Given the description of an element on the screen output the (x, y) to click on. 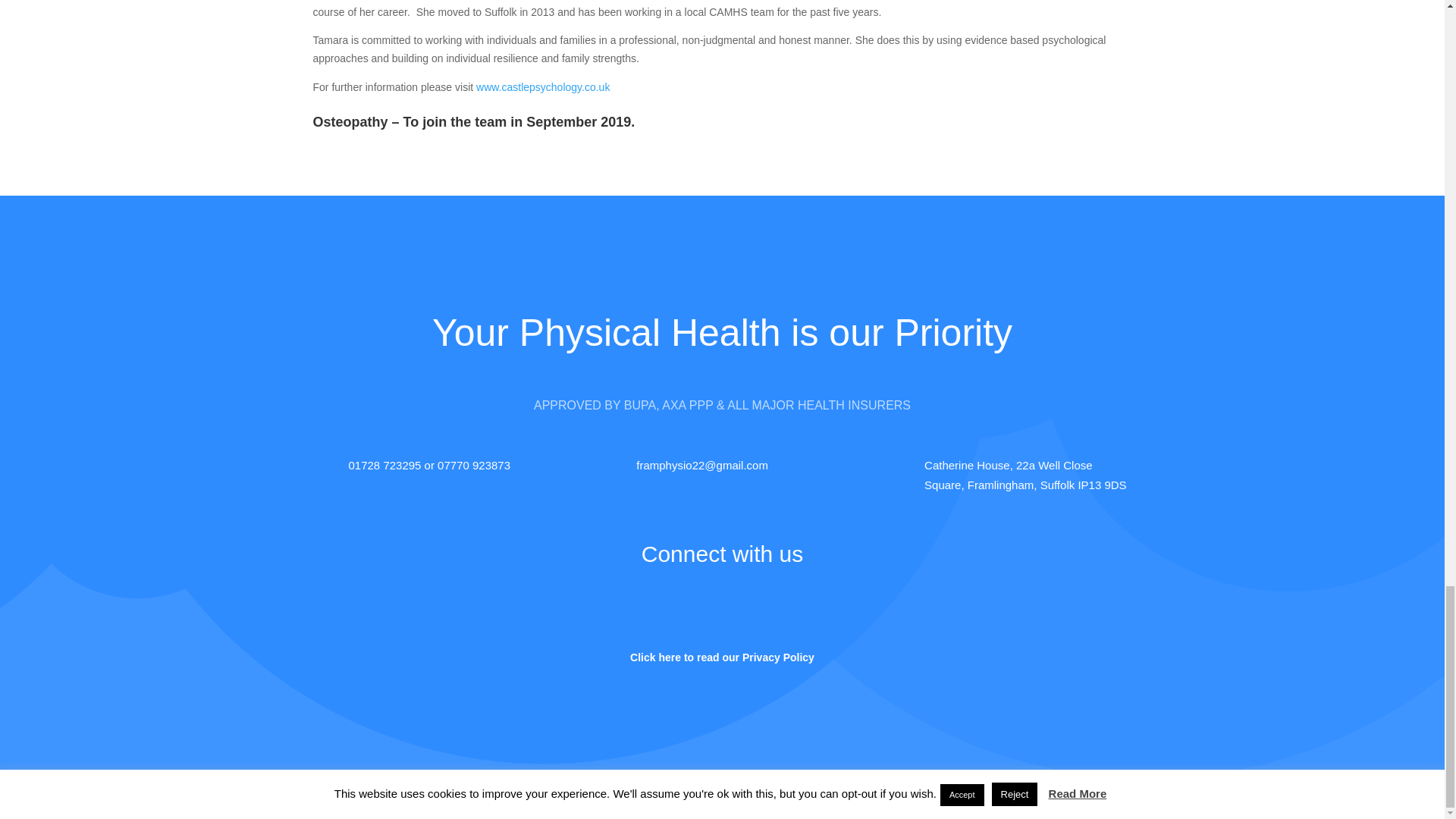
Click here to read our Privacy Policy (721, 657)
GENETIX Healthcare Ltd (636, 797)
www.castlepsychology.co.uk (543, 87)
